Given the description of an element on the screen output the (x, y) to click on. 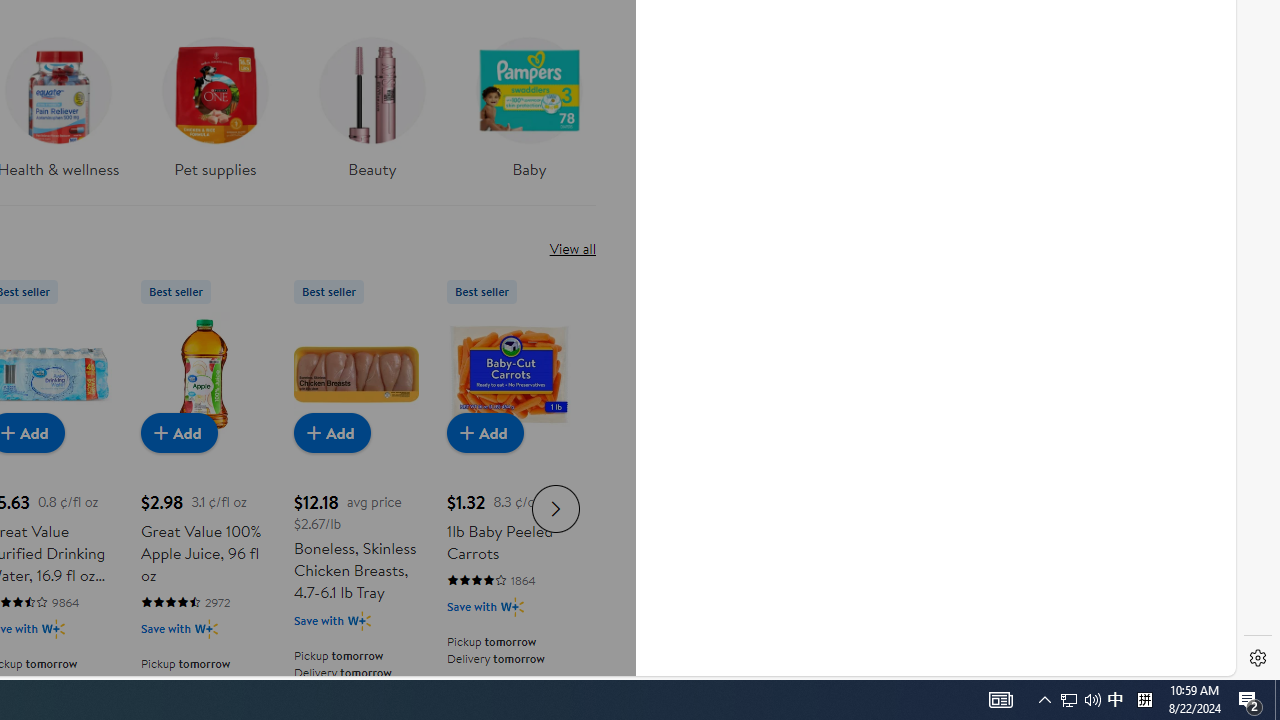
Pet supplies (214, 114)
Next slide for Product Carousel list (555, 507)
Beauty (371, 114)
Baby (529, 101)
Add to cart - 1lb Baby Peeled Carrots (484, 431)
Great Value 100% Apple Juice, 96 fl oz (203, 374)
Pet supplies (214, 101)
Add to cart - Great Value 100% Apple Juice, 96 fl oz (178, 431)
Beauty (371, 101)
Baby (529, 114)
Walmart Plus (512, 606)
Boneless, Skinless Chicken Breasts, 4.7-6.1 lb Tray (356, 374)
1lb Baby Peeled Carrots (509, 374)
View all (572, 248)
